Given the description of an element on the screen output the (x, y) to click on. 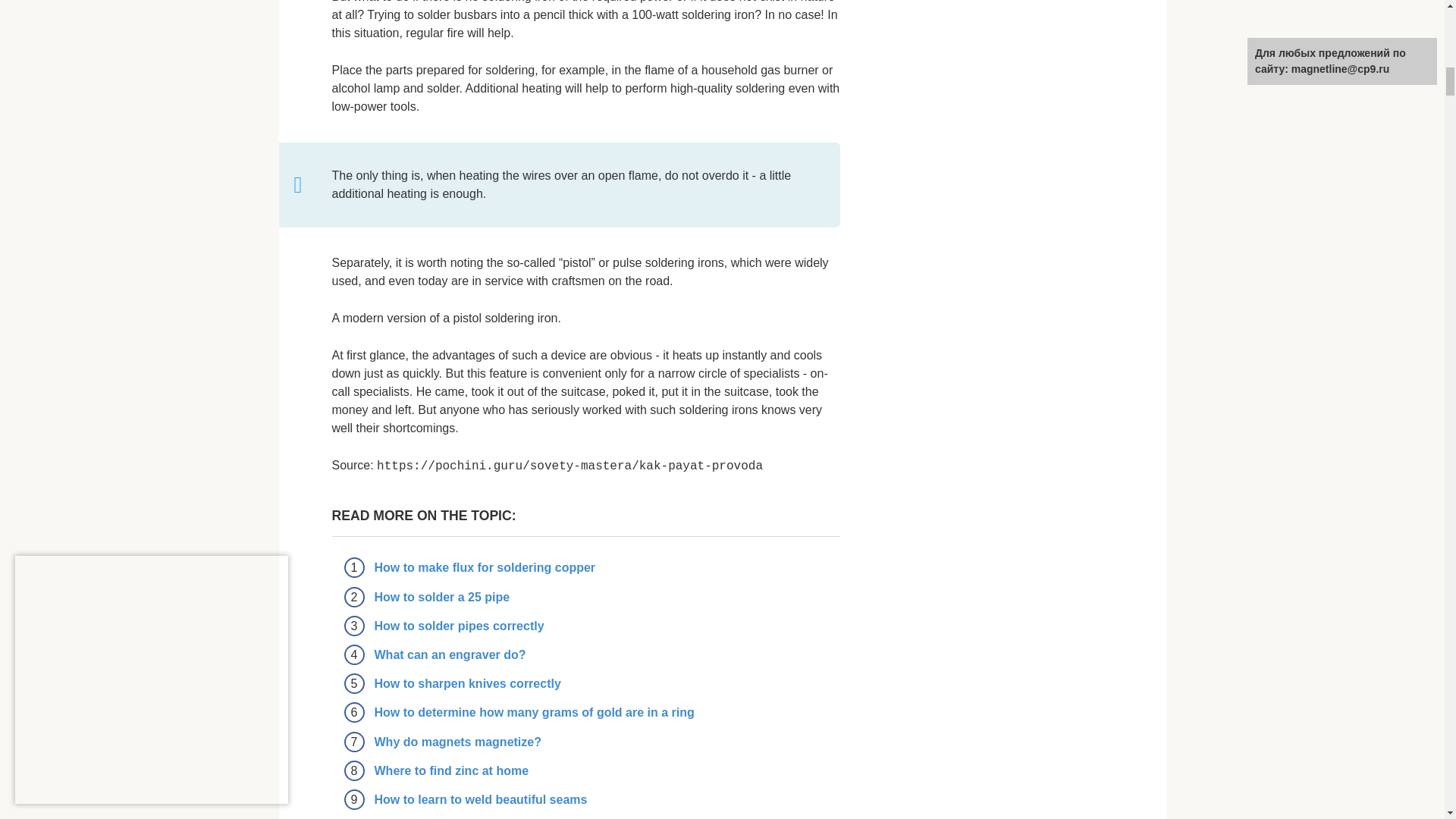
How to solder a 25 pipe (442, 596)
How to determine how many grams of gold are in a ring (534, 712)
What can an engraver do? (449, 654)
Where to find zinc at home (451, 770)
How to sharpen knives correctly (467, 683)
How to solder pipes correctly (459, 625)
Why do magnets magnetize? (457, 741)
How to make flux for soldering copper (484, 567)
How to learn to weld beautiful seams (481, 799)
